Given the description of an element on the screen output the (x, y) to click on. 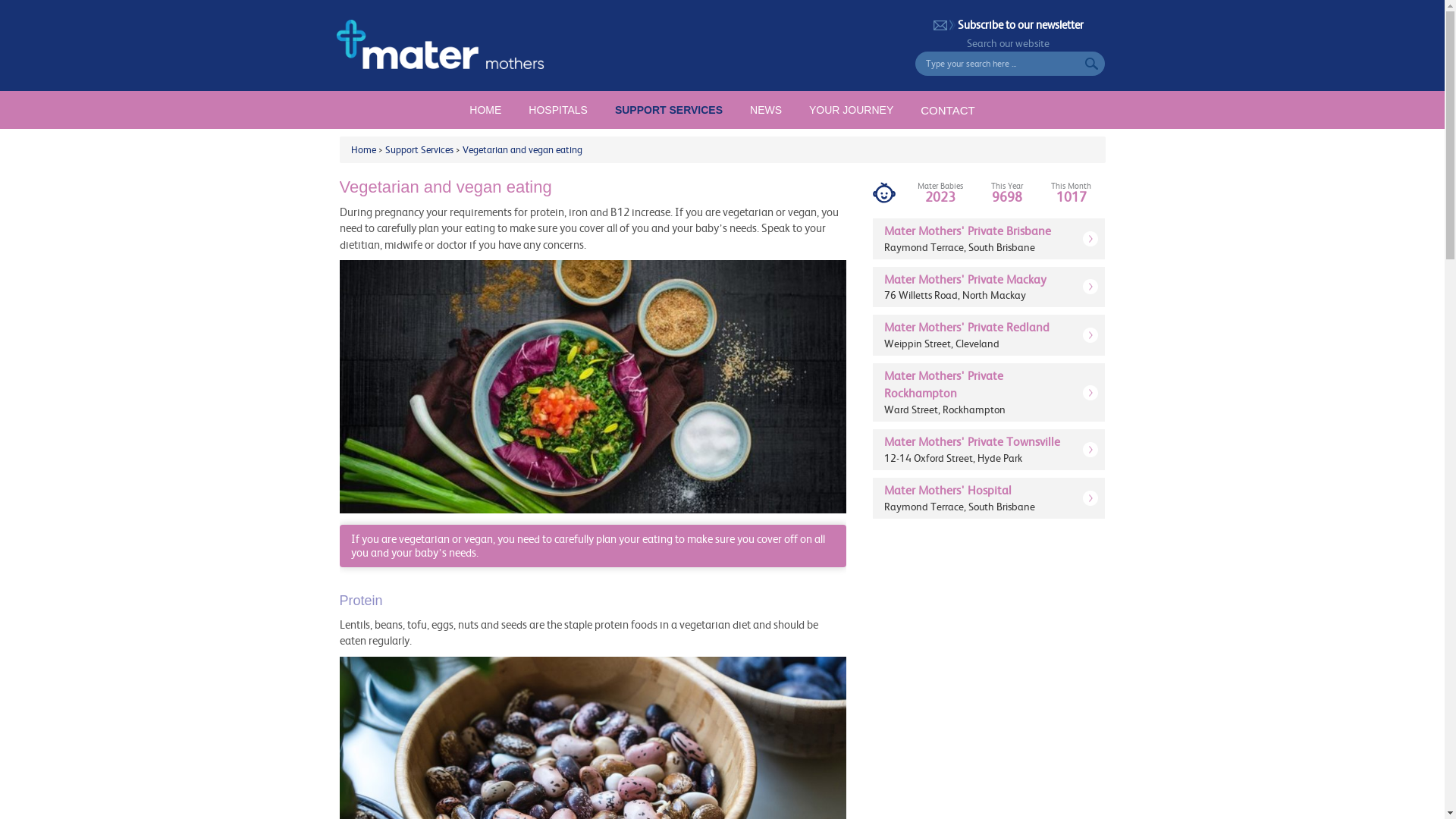
HOSPITALS Element type: text (557, 109)
Mater Mothers' Private Townsville Element type: text (972, 440)
Mater Mothers' Private Rockhampton Element type: text (943, 383)
Mater Mothers' Private Redland Element type: text (966, 326)
Mater Mothers' Private Brisbane Element type: text (967, 230)
CONTACT Element type: text (947, 110)
Search Element type: text (1094, 63)
HOME Element type: text (485, 109)
Mater Mothers' Hospital Element type: text (947, 489)
Subscribe to our newsletter Element type: text (1008, 24)
Support Services Element type: text (419, 149)
YOUR JOURNEY Element type: text (851, 109)
SUPPORT SERVICES Element type: text (668, 109)
Vegetarian and vegan eating Element type: text (522, 149)
Home Element type: text (362, 149)
Mater Mothers' Private Mackay Element type: text (965, 278)
NEWS Element type: text (765, 109)
